Given the description of an element on the screen output the (x, y) to click on. 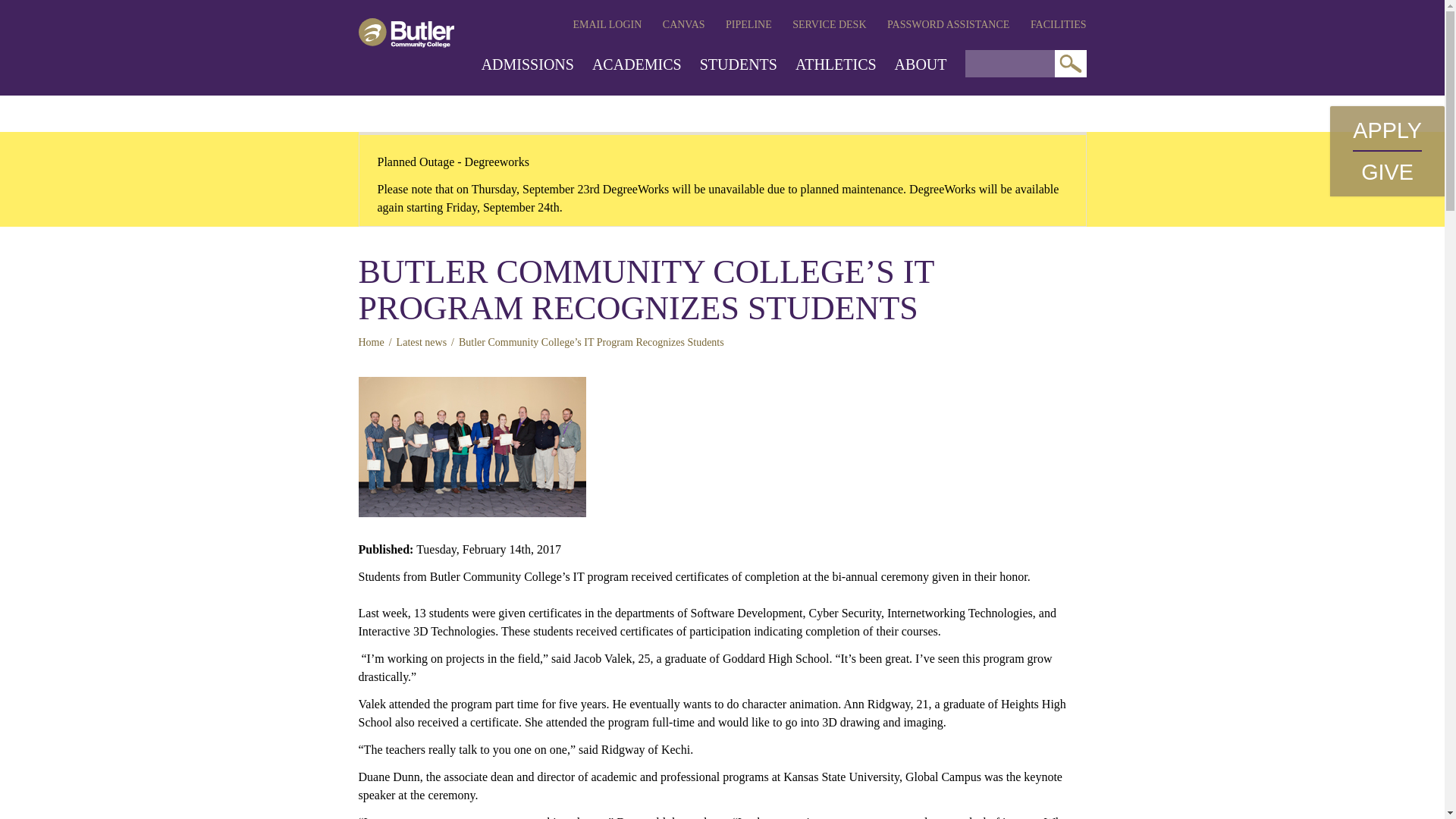
Butler Community College (405, 32)
ADMISSIONS (527, 64)
Give Now (1387, 171)
ACADEMICS (636, 64)
Apply Now (1387, 129)
